Given the description of an element on the screen output the (x, y) to click on. 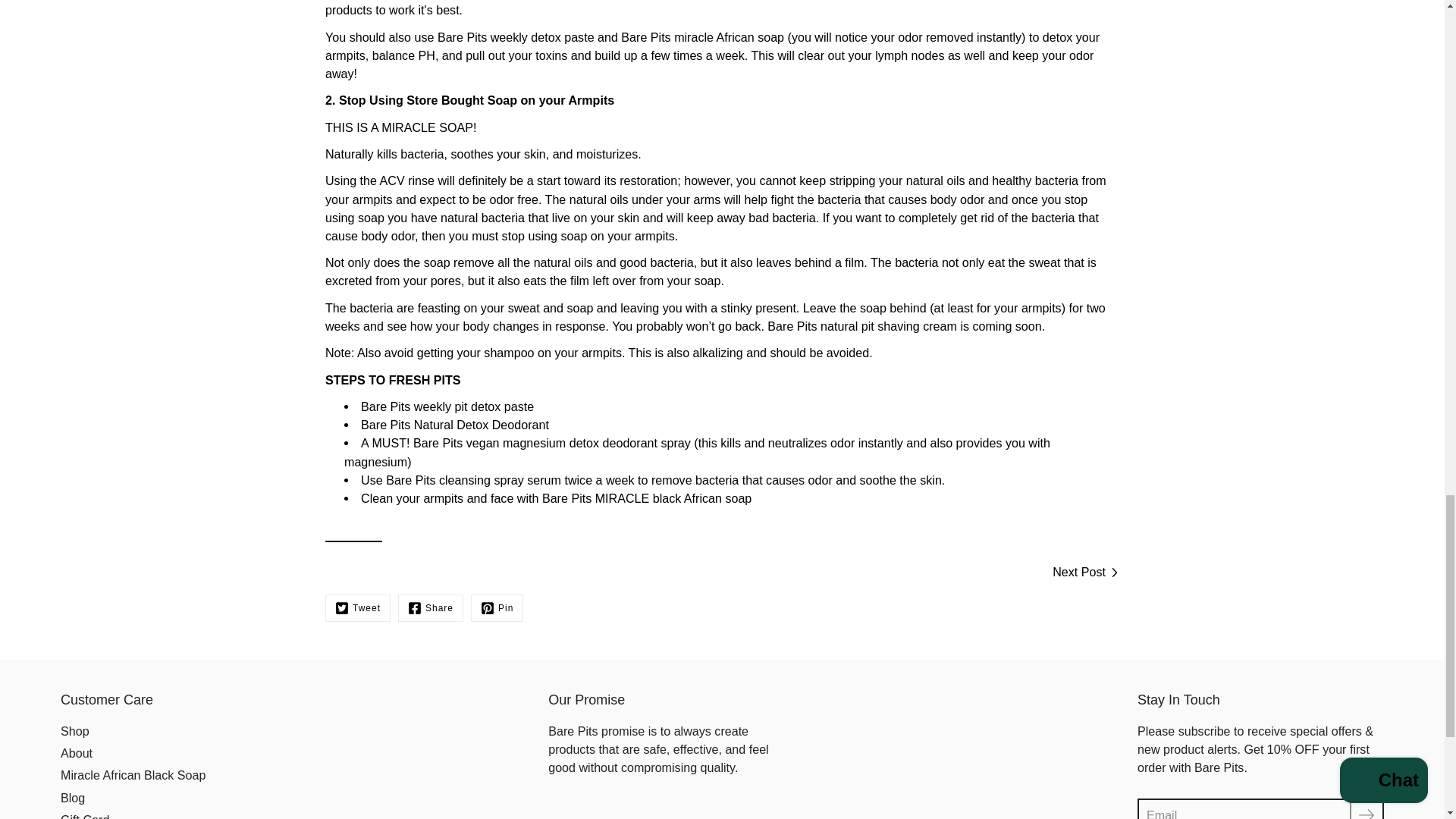
Pinterest (496, 607)
Facebook (430, 607)
Twitter (357, 607)
